Given the description of an element on the screen output the (x, y) to click on. 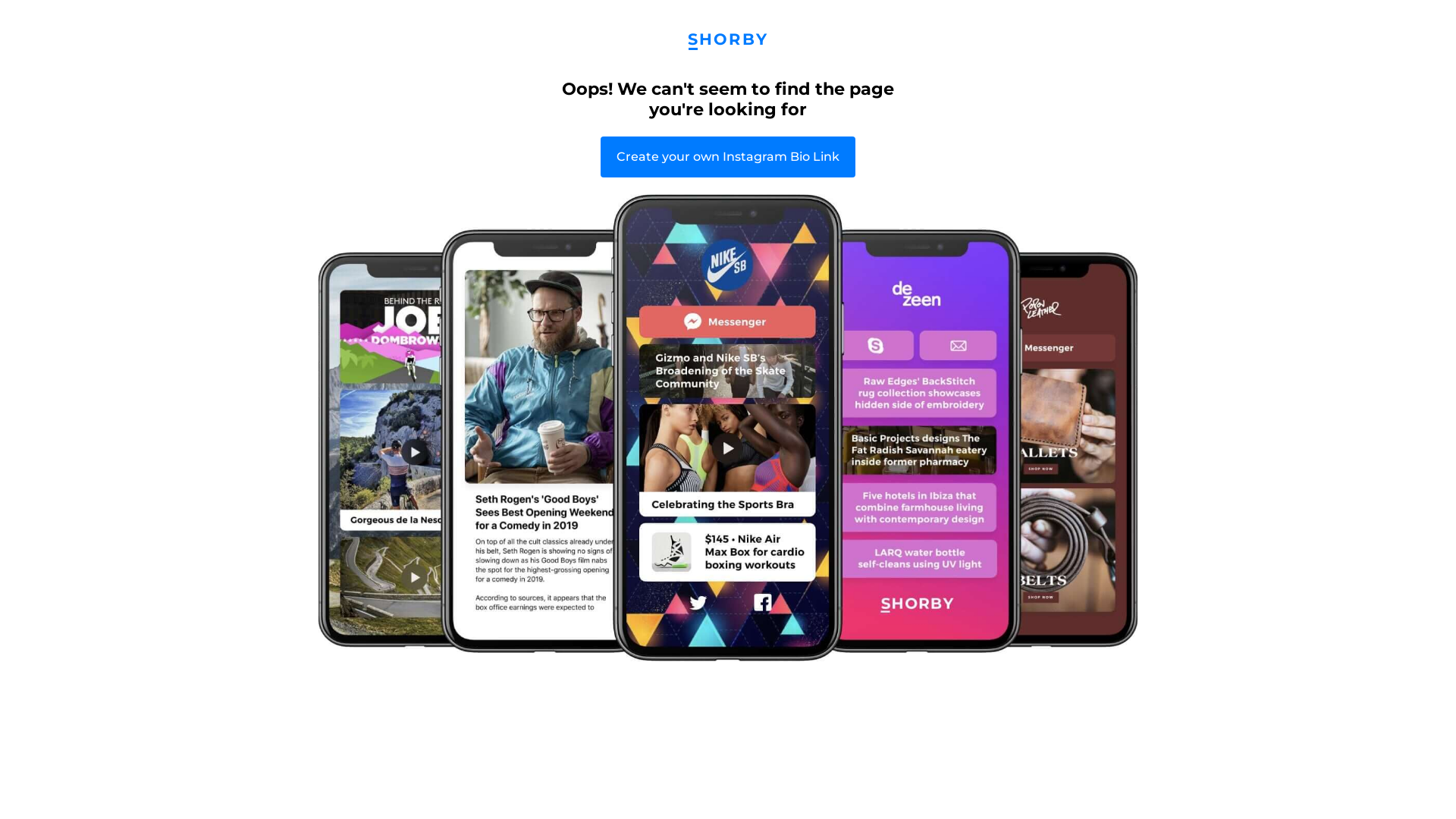
Create your own Instagram Bio Link Element type: text (727, 156)
